Given the description of an element on the screen output the (x, y) to click on. 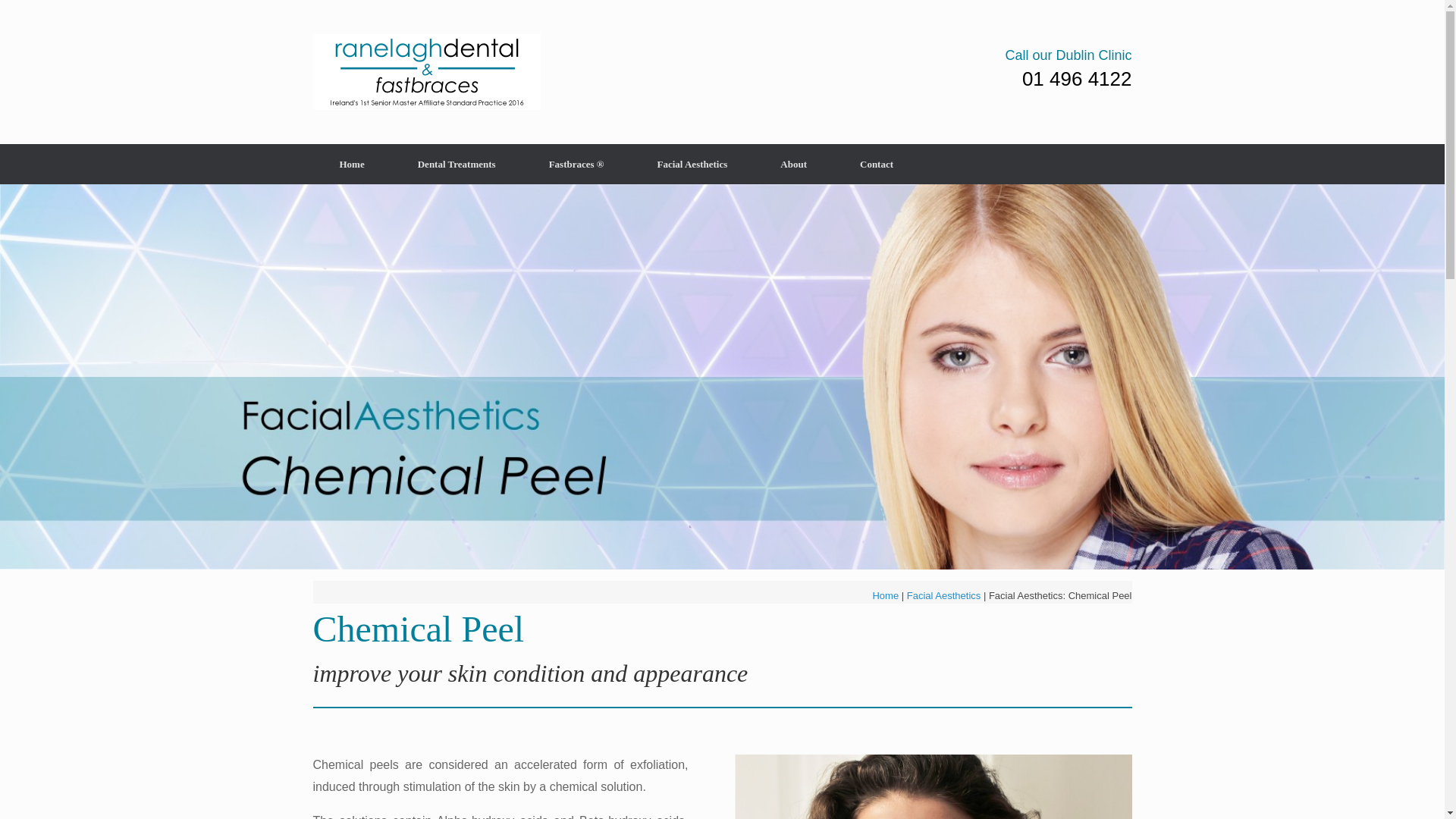
Facial Aesthetics (944, 595)
Dental Treatments (456, 164)
ranelagh dental clinic chemical peel. (932, 786)
About (793, 164)
Home (351, 164)
Facial Aesthetics (692, 164)
Contact (876, 164)
Home (885, 595)
